Given the description of an element on the screen output the (x, y) to click on. 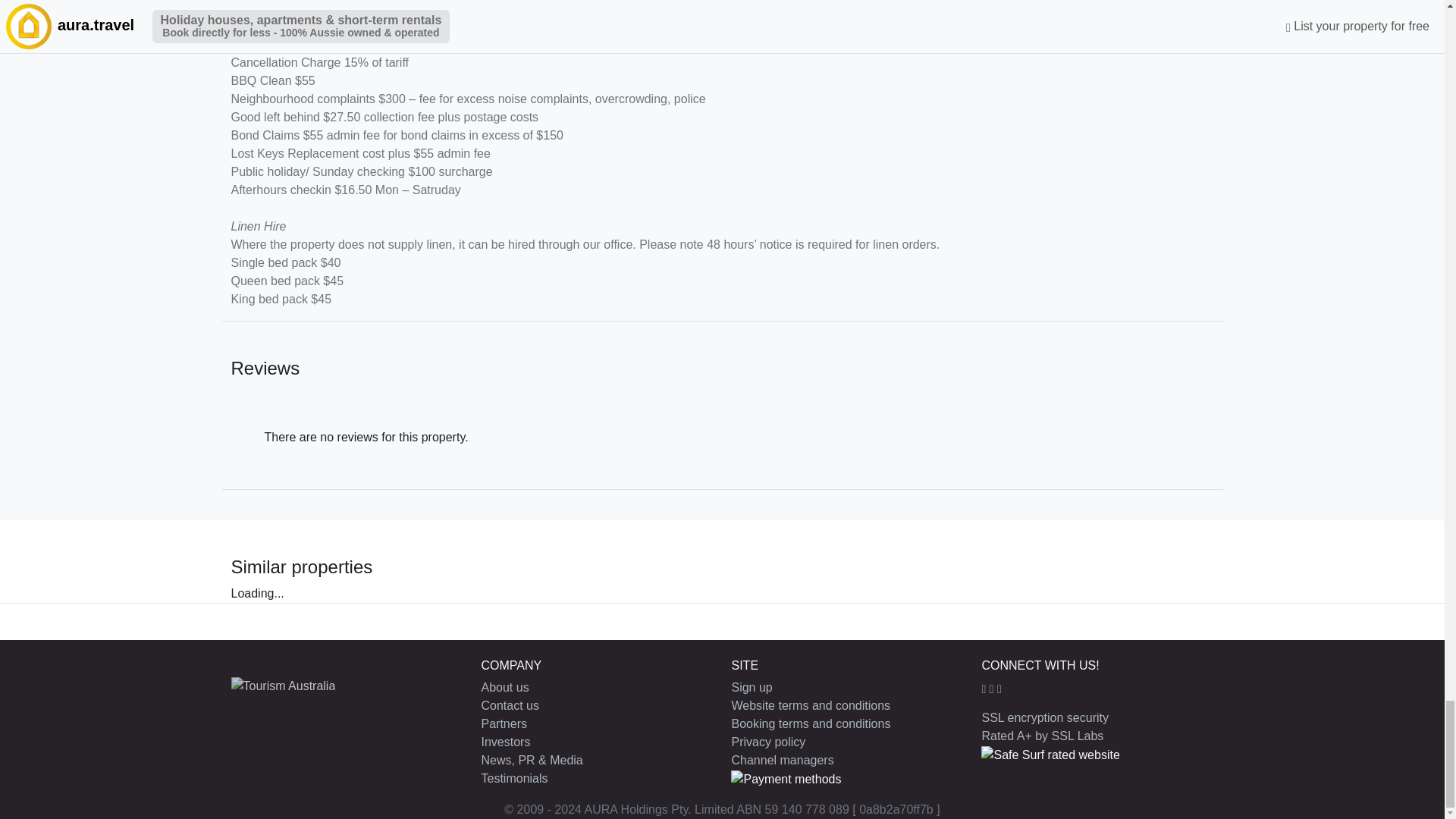
Payment methods (785, 779)
Website terms and conditions (809, 705)
Investors (504, 741)
Partners (502, 723)
Sign up (750, 686)
Contact us (509, 705)
About us (504, 686)
Booking terms and conditions (809, 723)
Testimonials (513, 778)
